Given the description of an element on the screen output the (x, y) to click on. 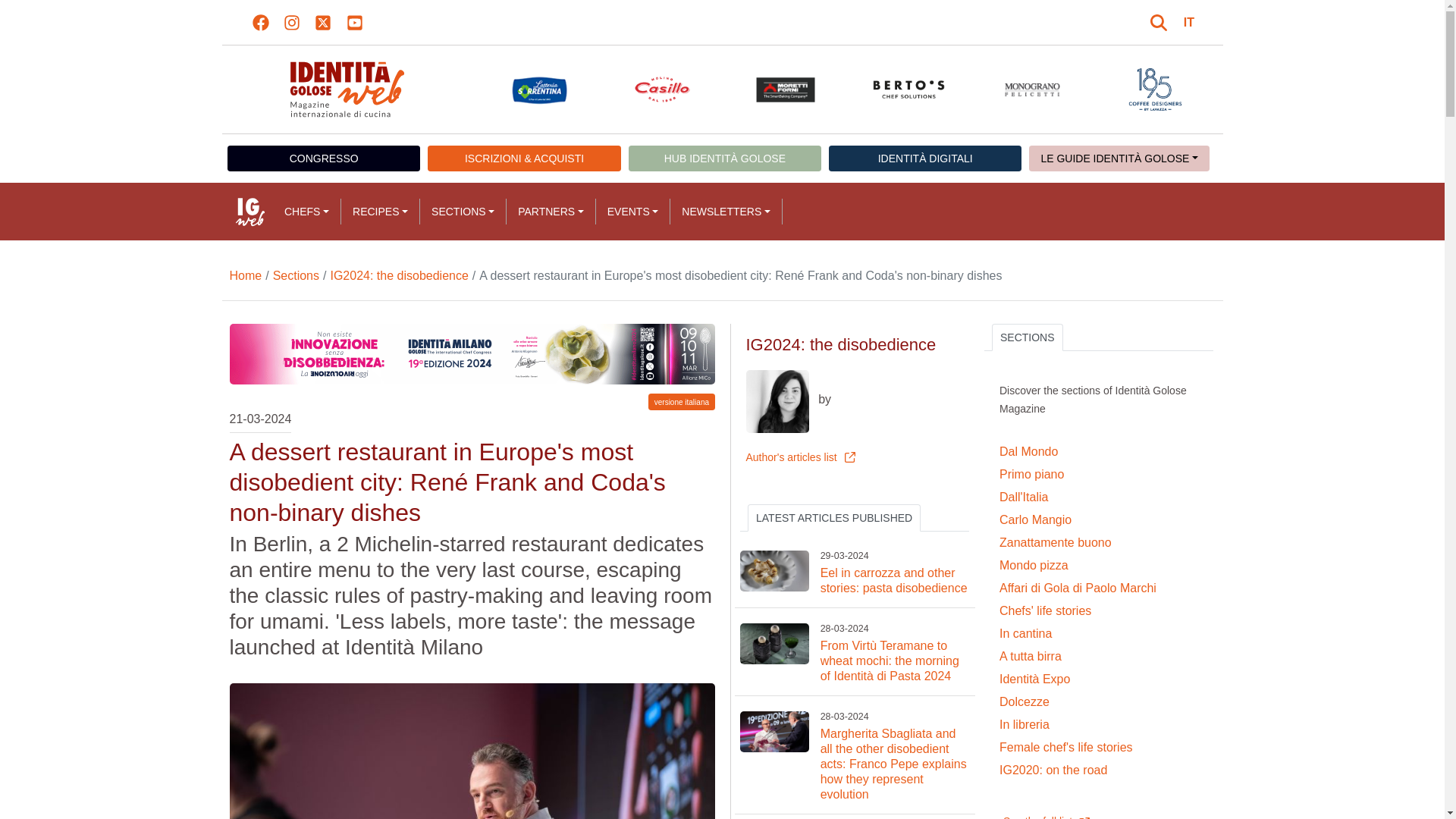
Forni Moretti leggi le news (785, 89)
ENG Monograno Felicetti leggi le news (1032, 89)
Berto's leggi le news (909, 89)
Molino Casillo (661, 89)
Latteria Sorrentina leggi le news (539, 89)
CONGRESSO (323, 158)
CHEFS (307, 211)
ENG Lavazza leggi le news (1155, 89)
Facebook (260, 22)
Twitter (323, 22)
Cerca (1160, 22)
Acqua Panna S.Pellegrino leggi le news (417, 89)
Instagram (291, 22)
Youtube (354, 22)
